Given the description of an element on the screen output the (x, y) to click on. 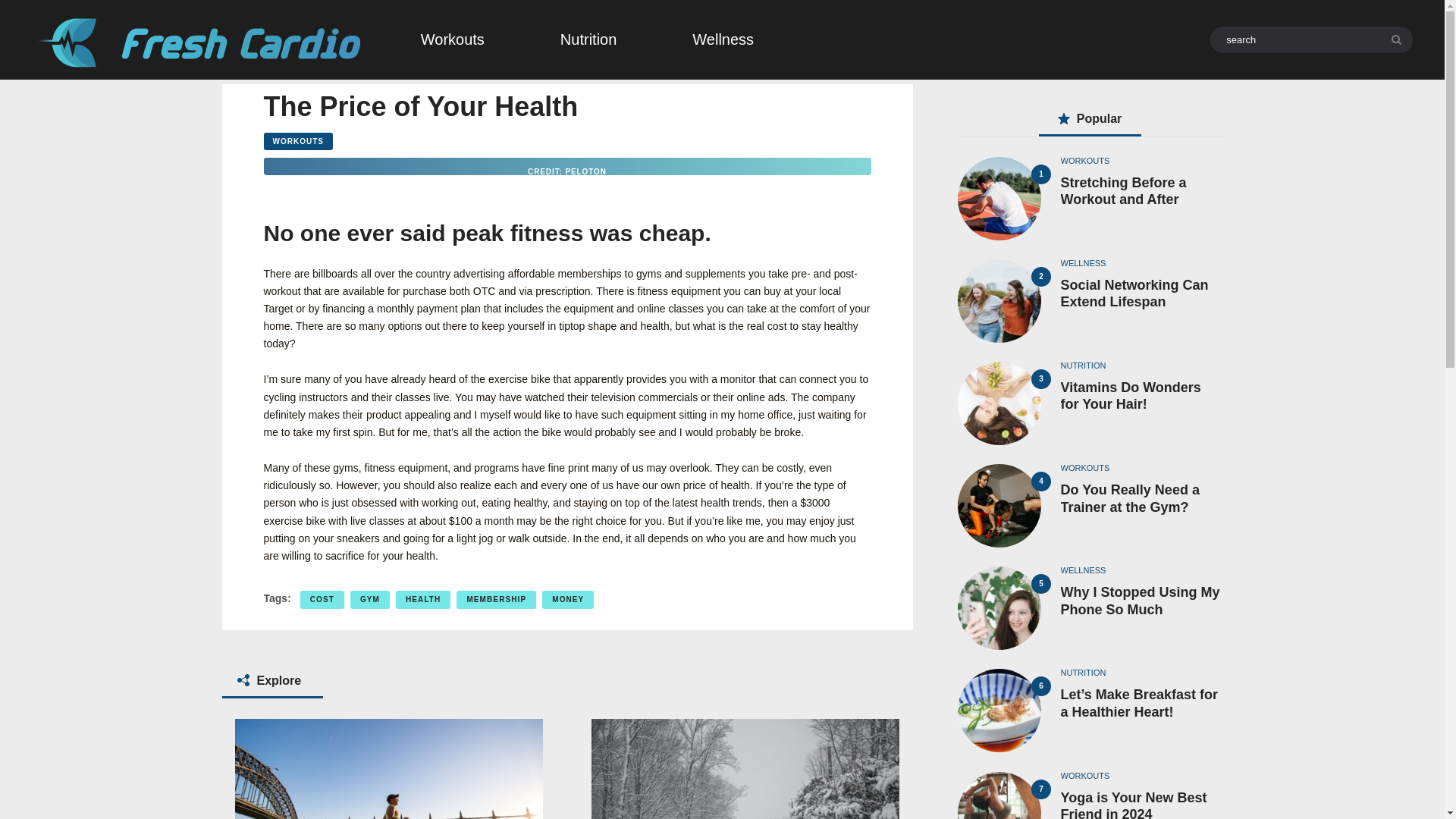
HEALTH (422, 599)
Wellness (722, 39)
Nutrition (587, 39)
View all posts in Workouts (1084, 160)
WORKOUTS (298, 140)
MONEY (567, 599)
View all posts in Nutrition (1082, 672)
View all posts in Wellness (1082, 569)
Workouts (452, 39)
View all posts in Workouts (1084, 775)
